Given the description of an element on the screen output the (x, y) to click on. 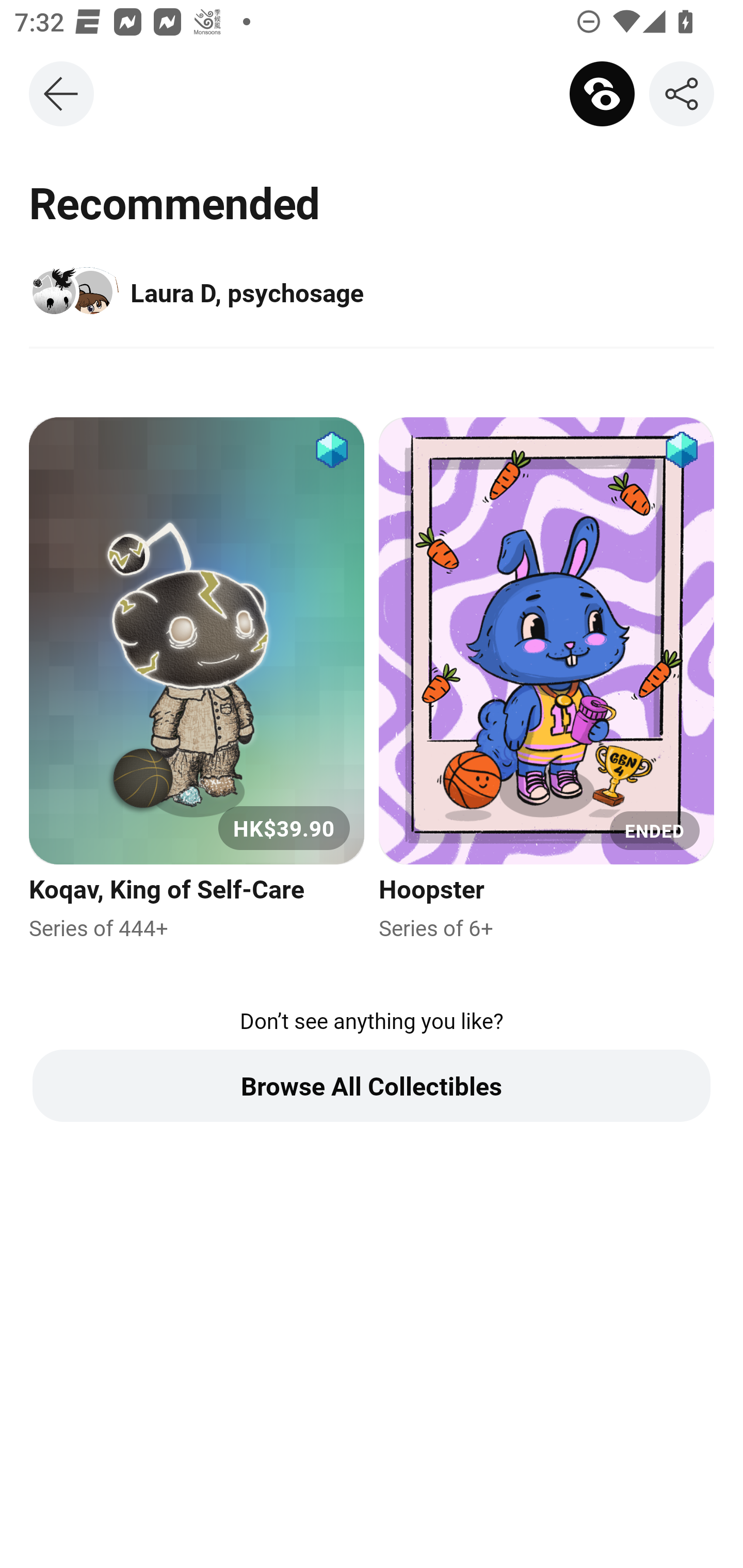
Back (60, 93)
Turn off comfy mode (598, 93)
Share (681, 93)
Koqav, King of Self-Care, Series of 444+, HK$39.90 (196, 679)
Hoopster, Series of 6+, ENDED (546, 679)
Browse All Collectibles (371, 1085)
